Given the description of an element on the screen output the (x, y) to click on. 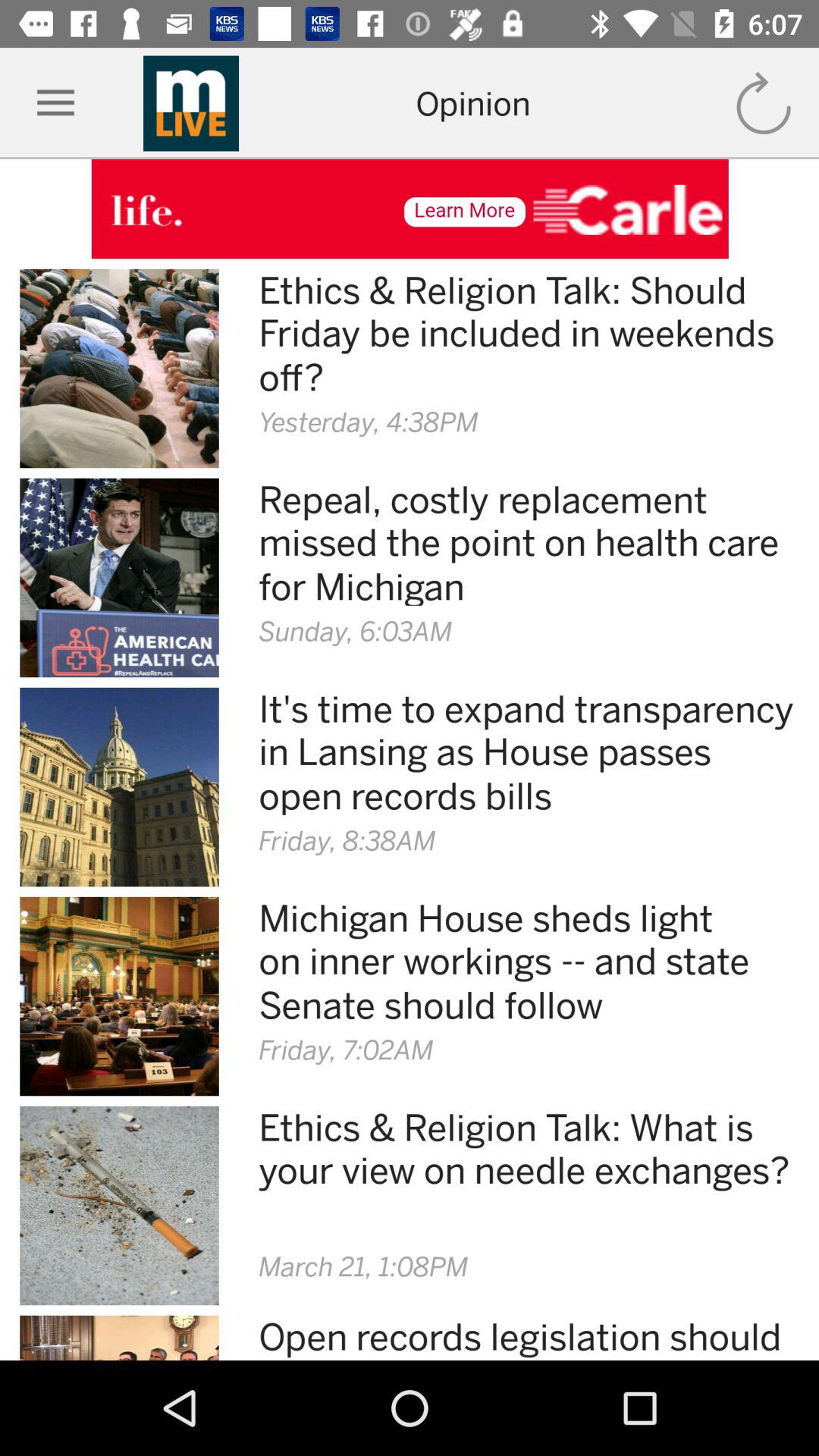
open advertisement (409, 208)
